Given the description of an element on the screen output the (x, y) to click on. 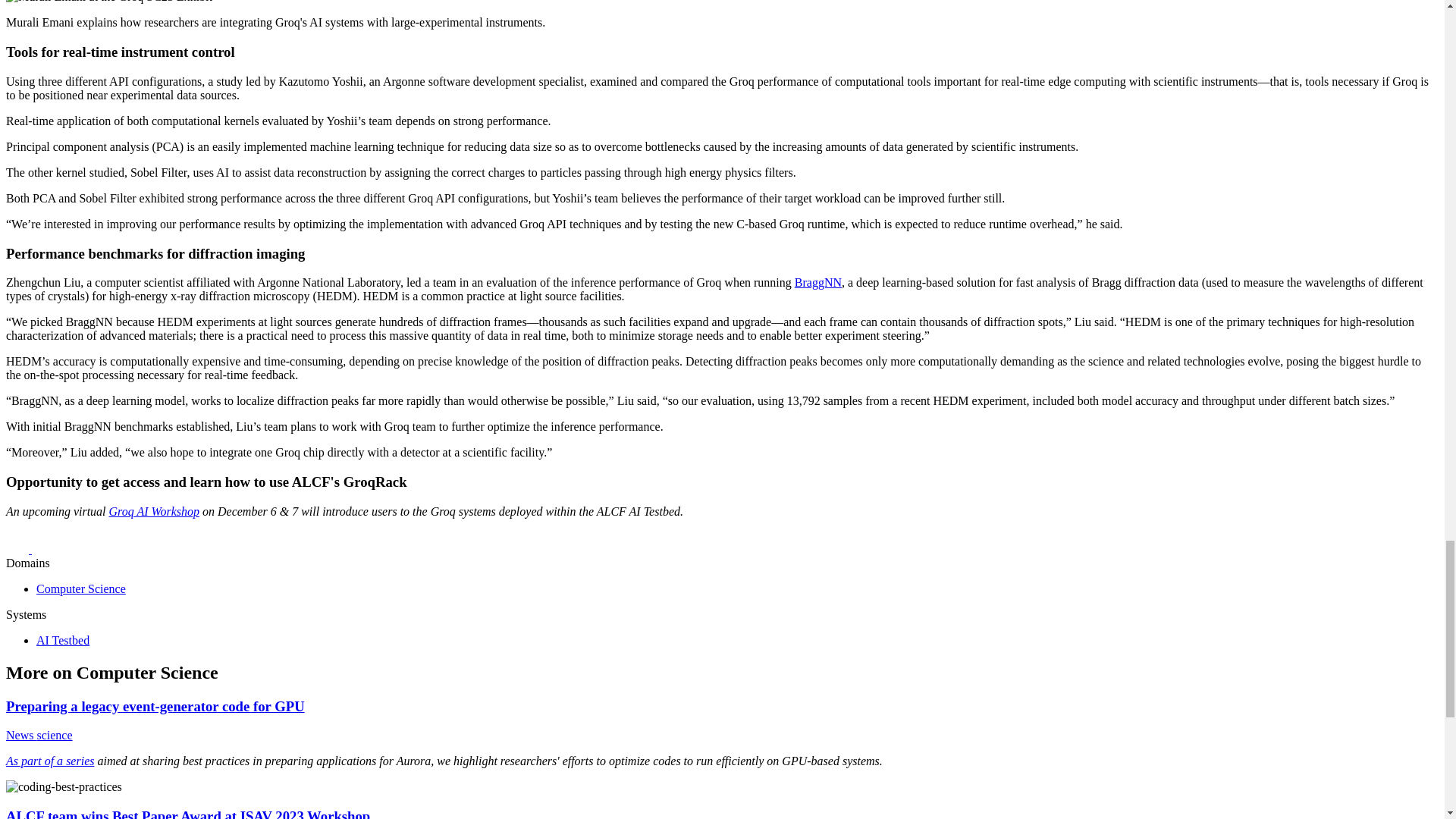
Share to Facebook (18, 549)
Share to Linkedin (43, 549)
